Given the description of an element on the screen output the (x, y) to click on. 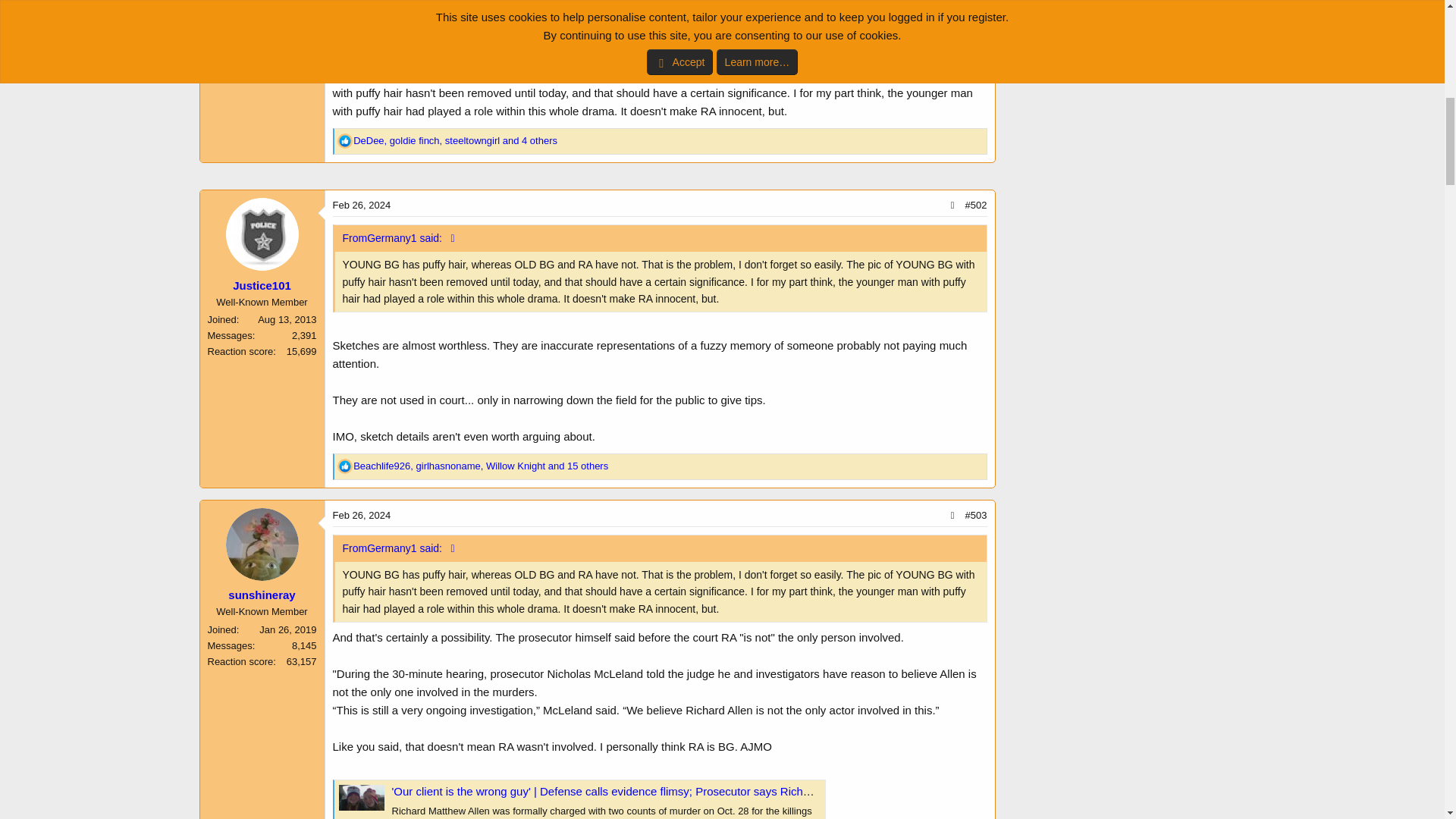
Like (343, 466)
Like (343, 141)
Feb 26, 2024 at 9:32 AM (360, 204)
